Given the description of an element on the screen output the (x, y) to click on. 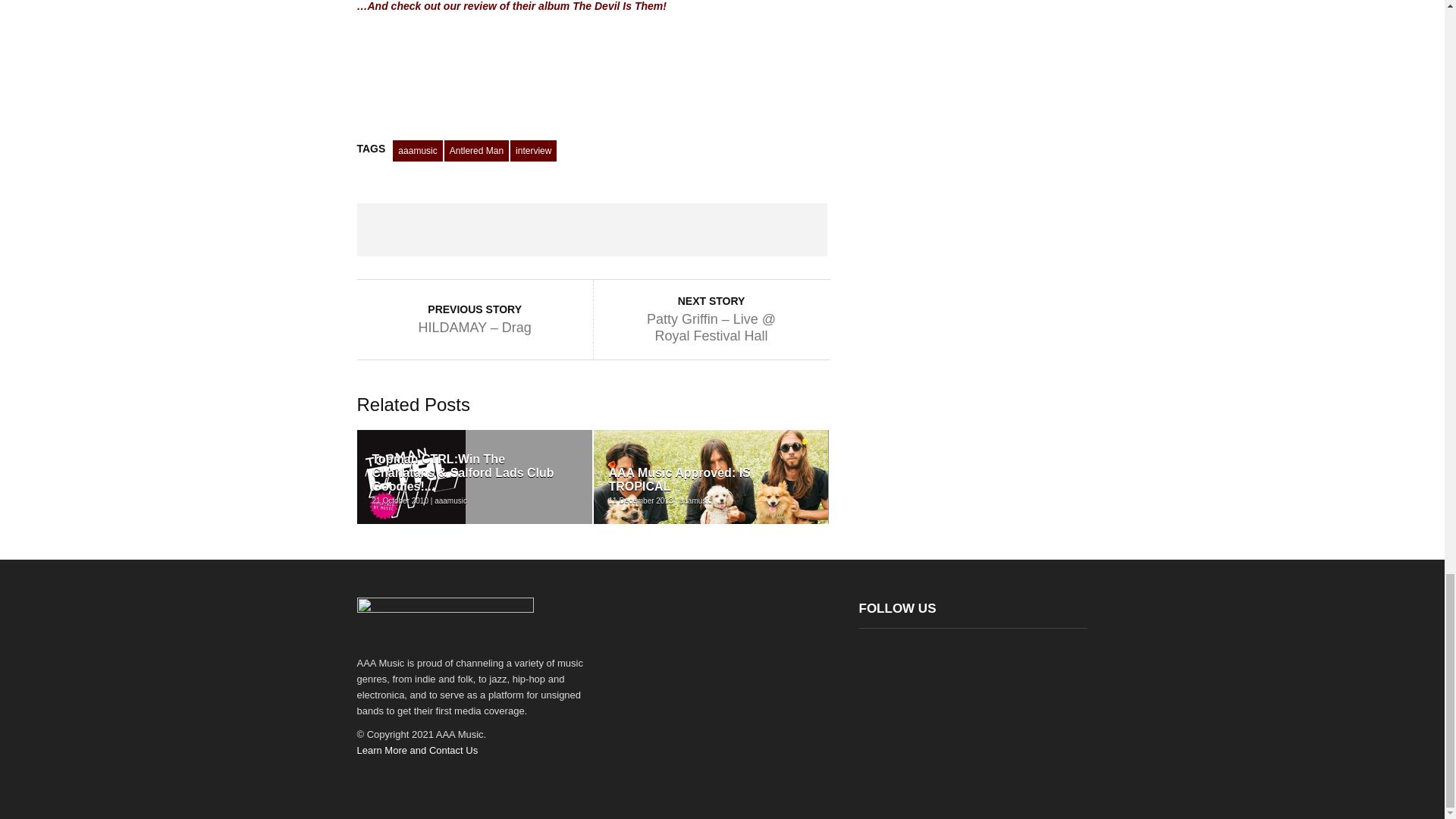
Antlered Man (476, 150)
Email This (780, 229)
aaamusic (417, 150)
Pin This (686, 229)
Tweet This (497, 229)
Share on Google Plus (591, 229)
Share on Google Plus (591, 229)
Tweet This (497, 229)
interview (533, 150)
Share on Facebook (402, 229)
Share on Facebook (402, 229)
